Given the description of an element on the screen output the (x, y) to click on. 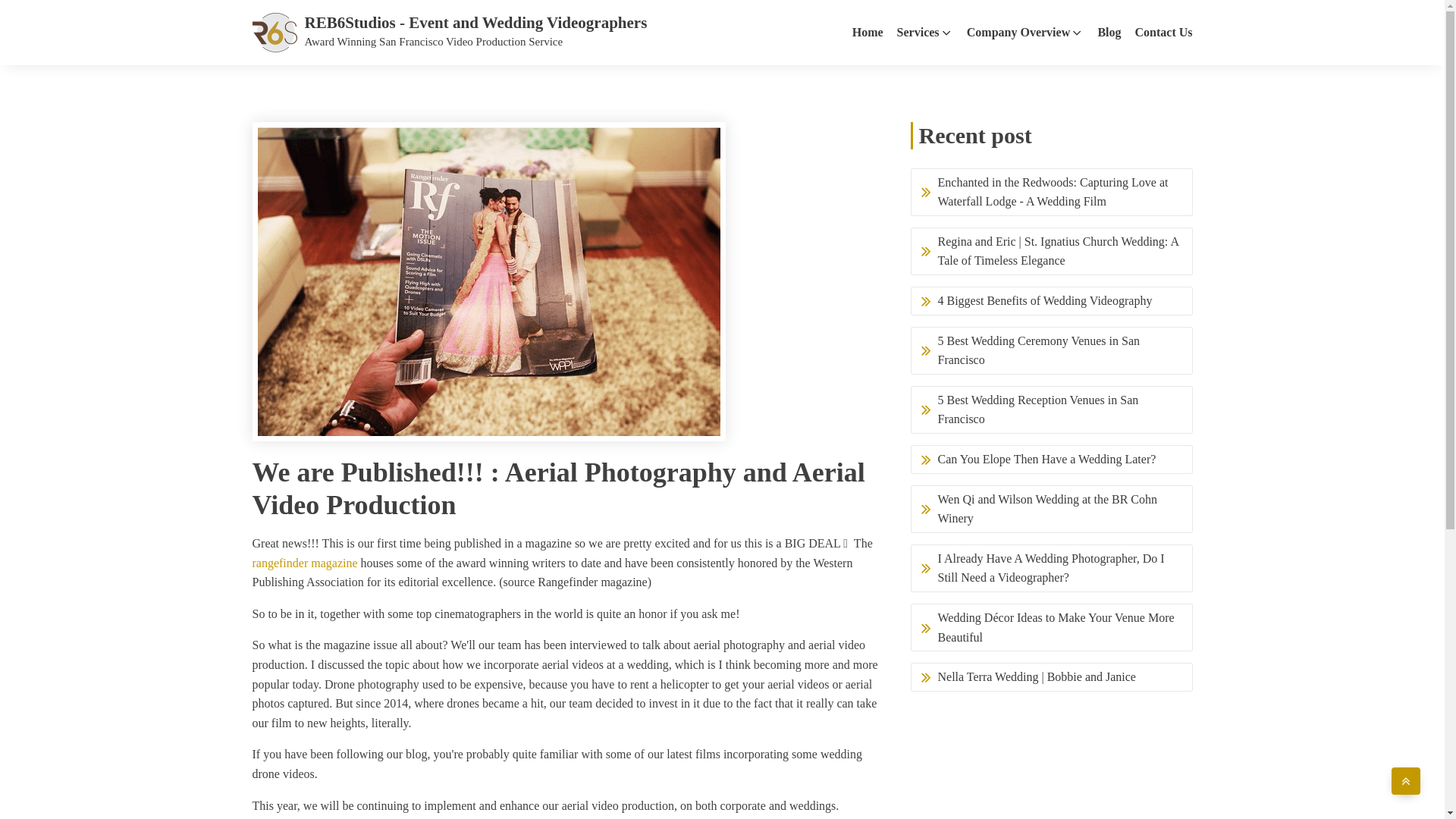
rangefinder magazine (303, 562)
5 Best Wedding Reception Venues in San Francisco (1051, 409)
Company Overview (1025, 32)
Wen Qi and Wilson Wedding at the BR Cohn Winery (1051, 509)
4 Biggest Benefits of Wedding Videography (1051, 300)
Can You Elope Then Have a Wedding Later? (1051, 459)
5 Best Wedding Ceremony Venues in San Francisco (1051, 350)
